Given the description of an element on the screen output the (x, y) to click on. 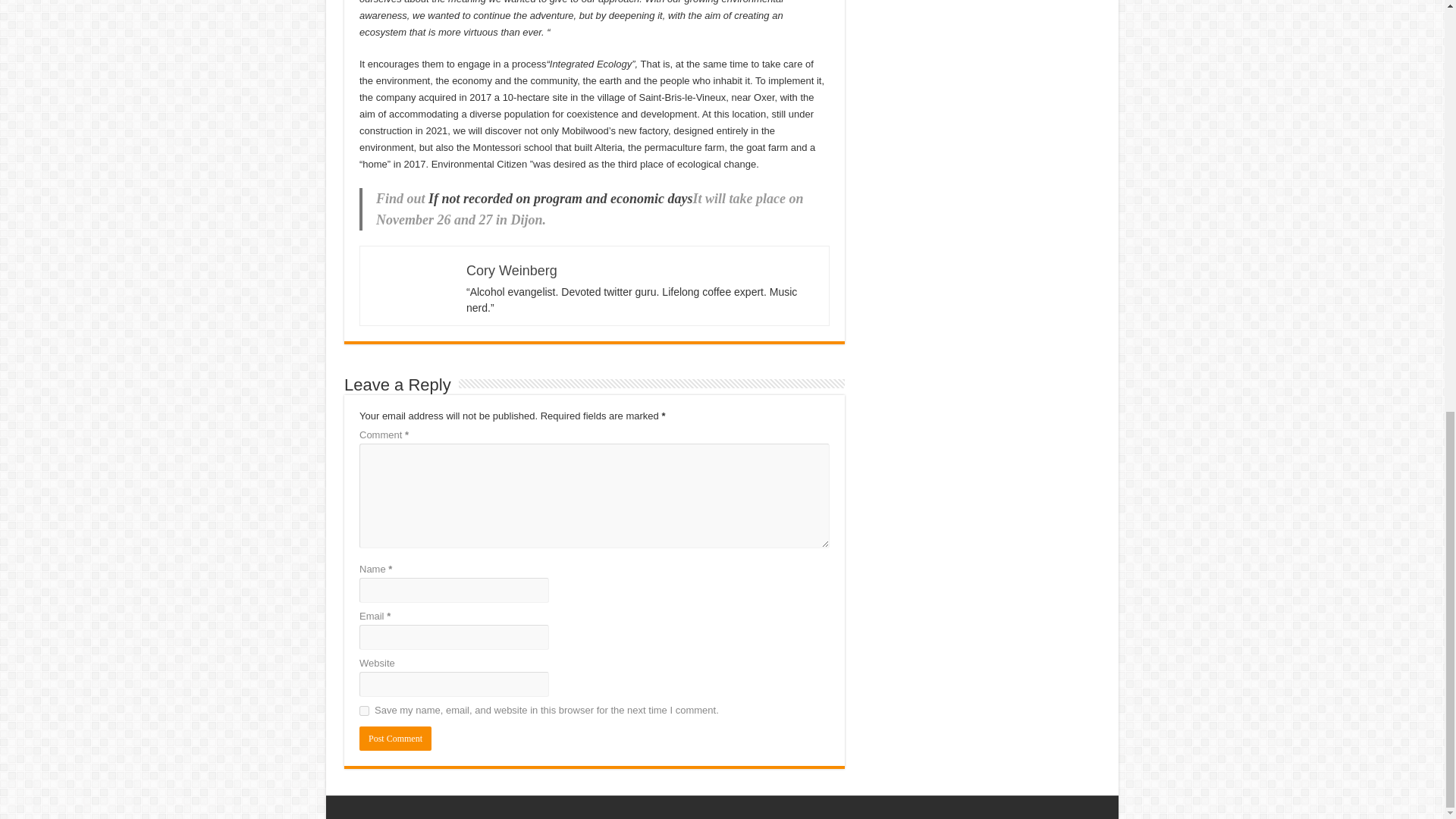
yes (364, 710)
Cory Weinberg (511, 270)
Post Comment (394, 738)
If not recorded on program and economic days (560, 198)
Post Comment (394, 738)
